Given the description of an element on the screen output the (x, y) to click on. 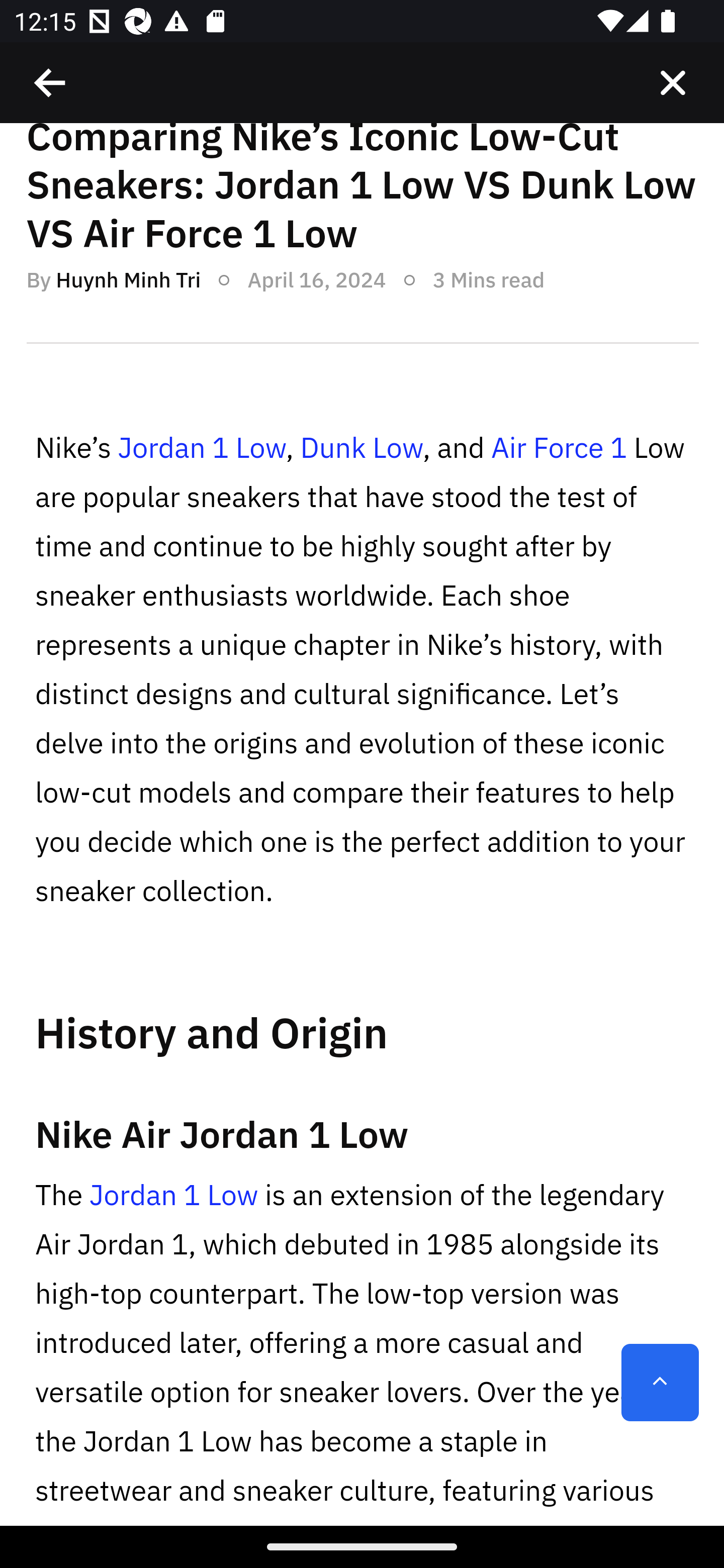
 (50, 83)
 (672, 83)
Huynh Minh Tri (127, 279)
Jordan 1 Low (200, 448)
Dunk Low (361, 448)
Air Force 1 (558, 448)
Jordan 1 Low (173, 1195)
Scroll to top  (659, 1382)
